Given the description of an element on the screen output the (x, y) to click on. 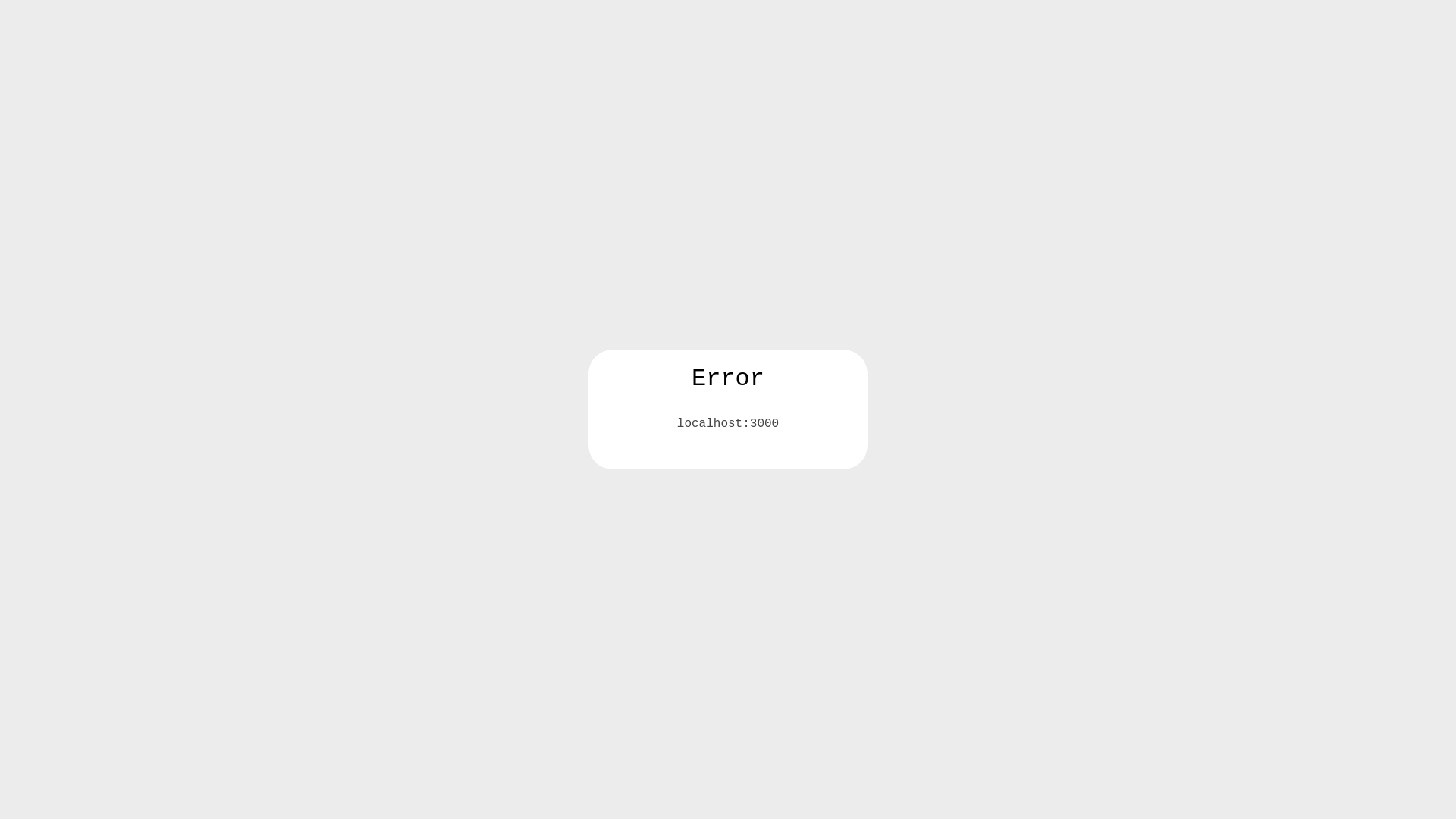
localhost:3000 Element type: text (727, 423)
